Given the description of an element on the screen output the (x, y) to click on. 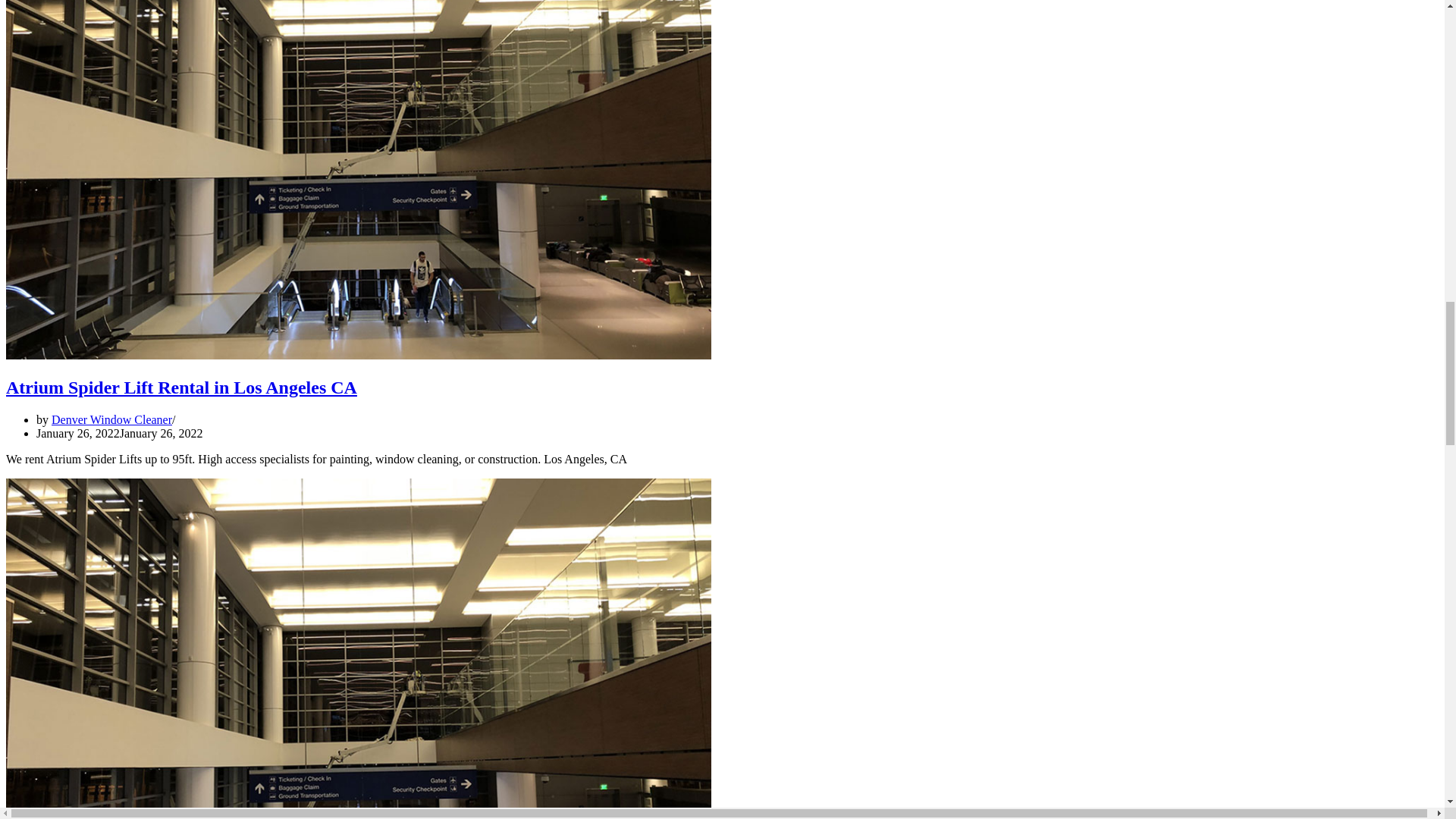
Atrium Spider Lift Rental in Los Angeles CA (358, 354)
Atrium Spider Lift Rental in Los Angeles CA (180, 387)
Posts by Denver Window Cleaner (110, 418)
Denver Window Cleaner (110, 418)
